Given the description of an element on the screen output the (x, y) to click on. 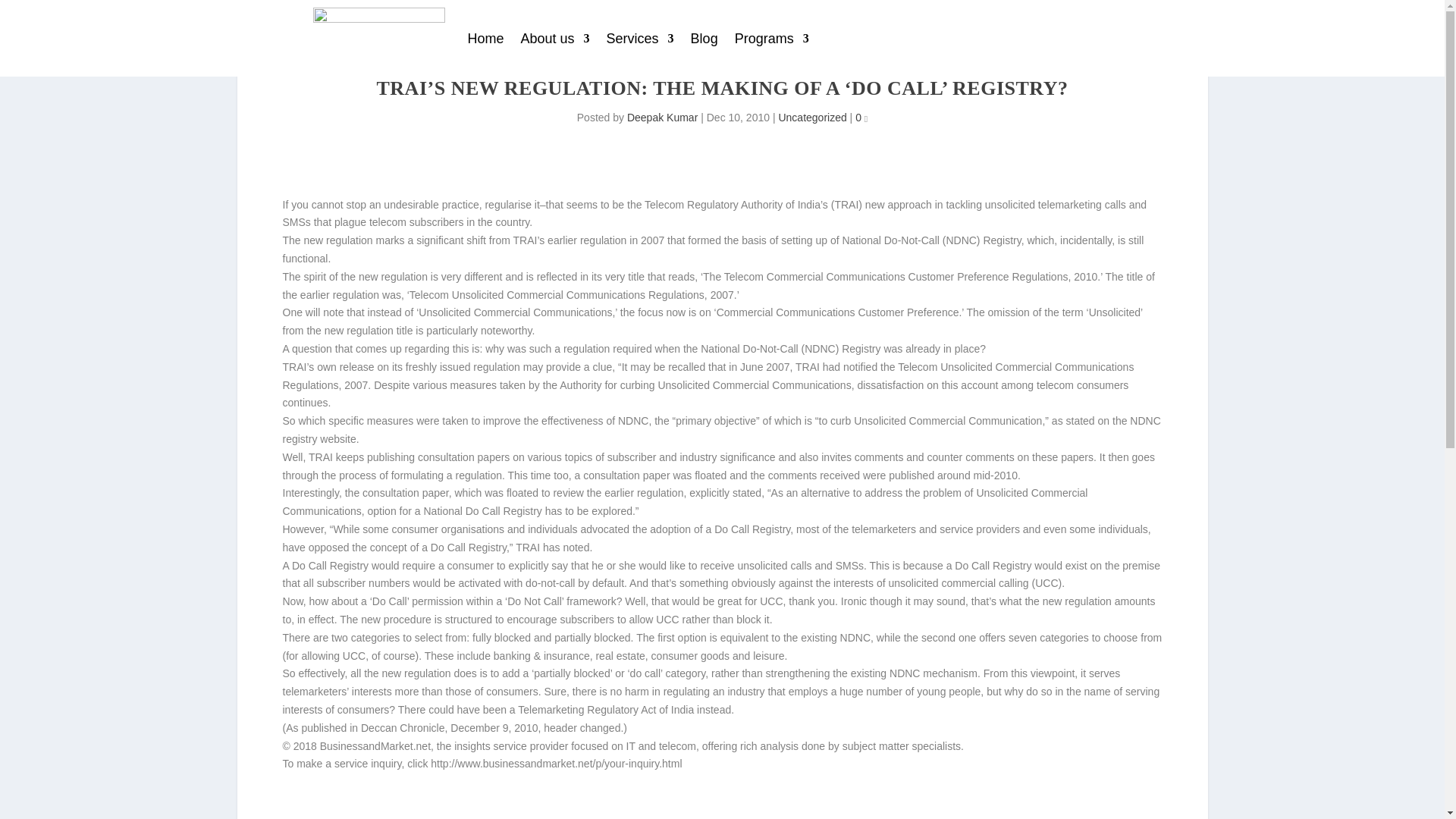
Deepak Kumar (662, 117)
Posts by Deepak Kumar (662, 117)
Services (640, 37)
Uncategorized (811, 117)
Programs (772, 37)
About us (555, 37)
0 (861, 117)
